Given the description of an element on the screen output the (x, y) to click on. 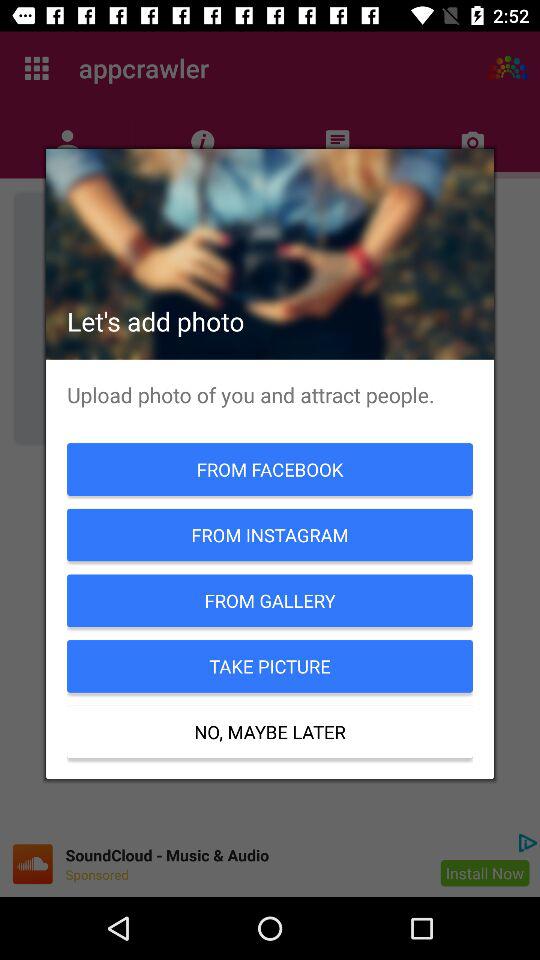
press item below the upload photo of icon (269, 469)
